Given the description of an element on the screen output the (x, y) to click on. 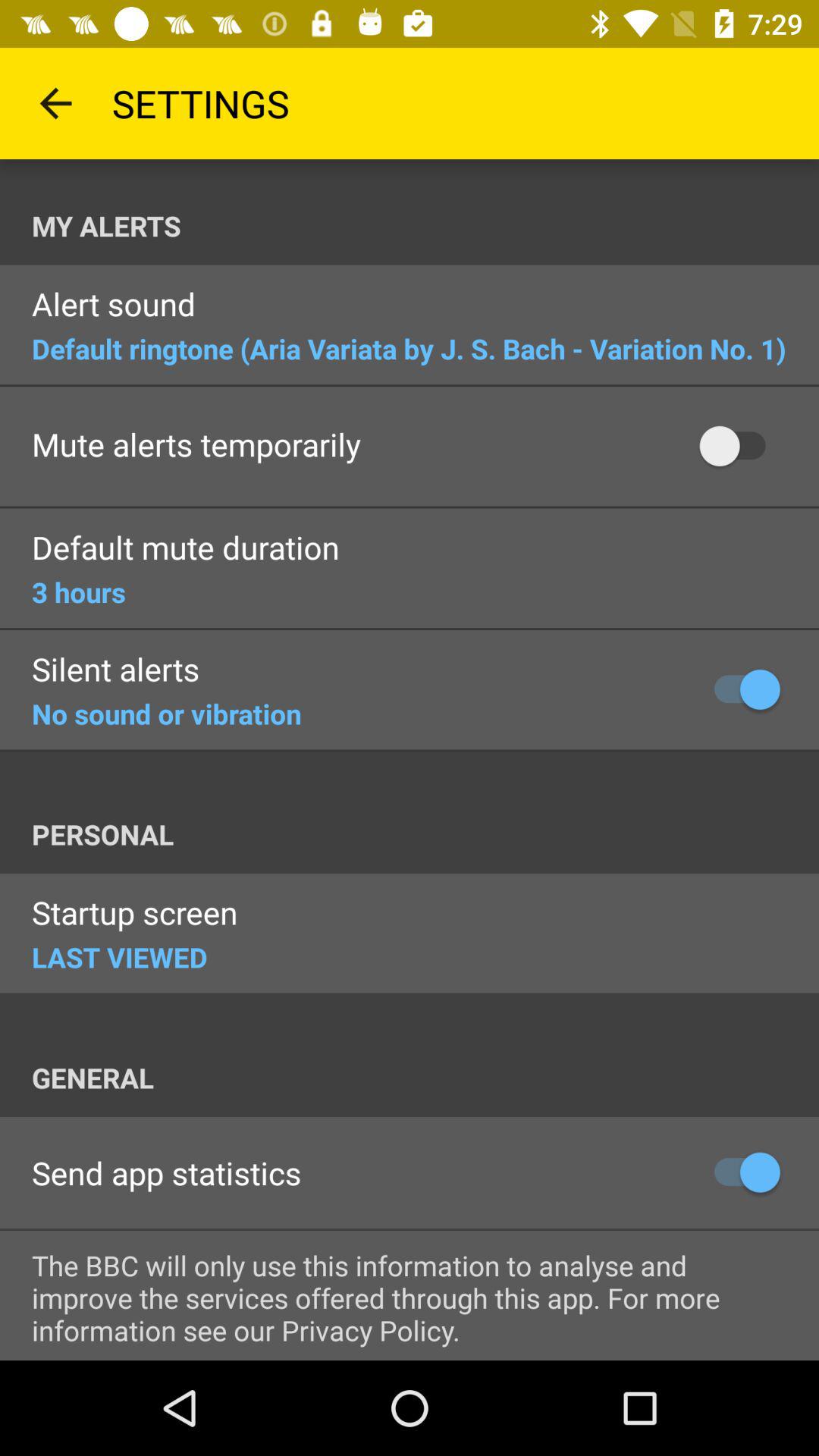
press icon to the left of the settings (55, 103)
